Given the description of an element on the screen output the (x, y) to click on. 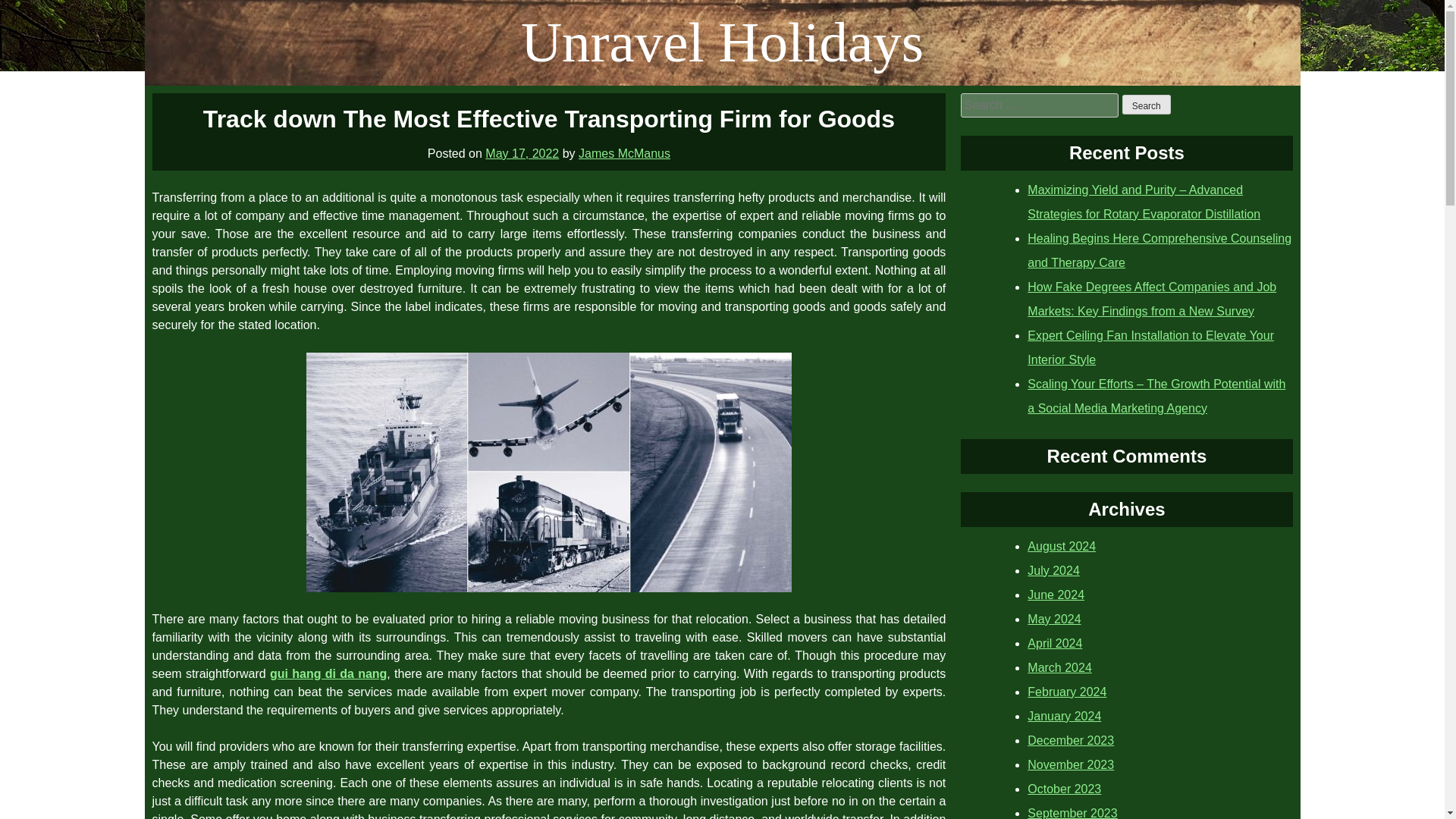
Search (1146, 104)
Search (1146, 104)
Unravel Holidays (722, 41)
May 2024 (1053, 618)
October 2023 (1063, 788)
November 2023 (1070, 764)
August 2024 (1061, 545)
May 17, 2022 (521, 153)
Search (1146, 104)
